Given the description of an element on the screen output the (x, y) to click on. 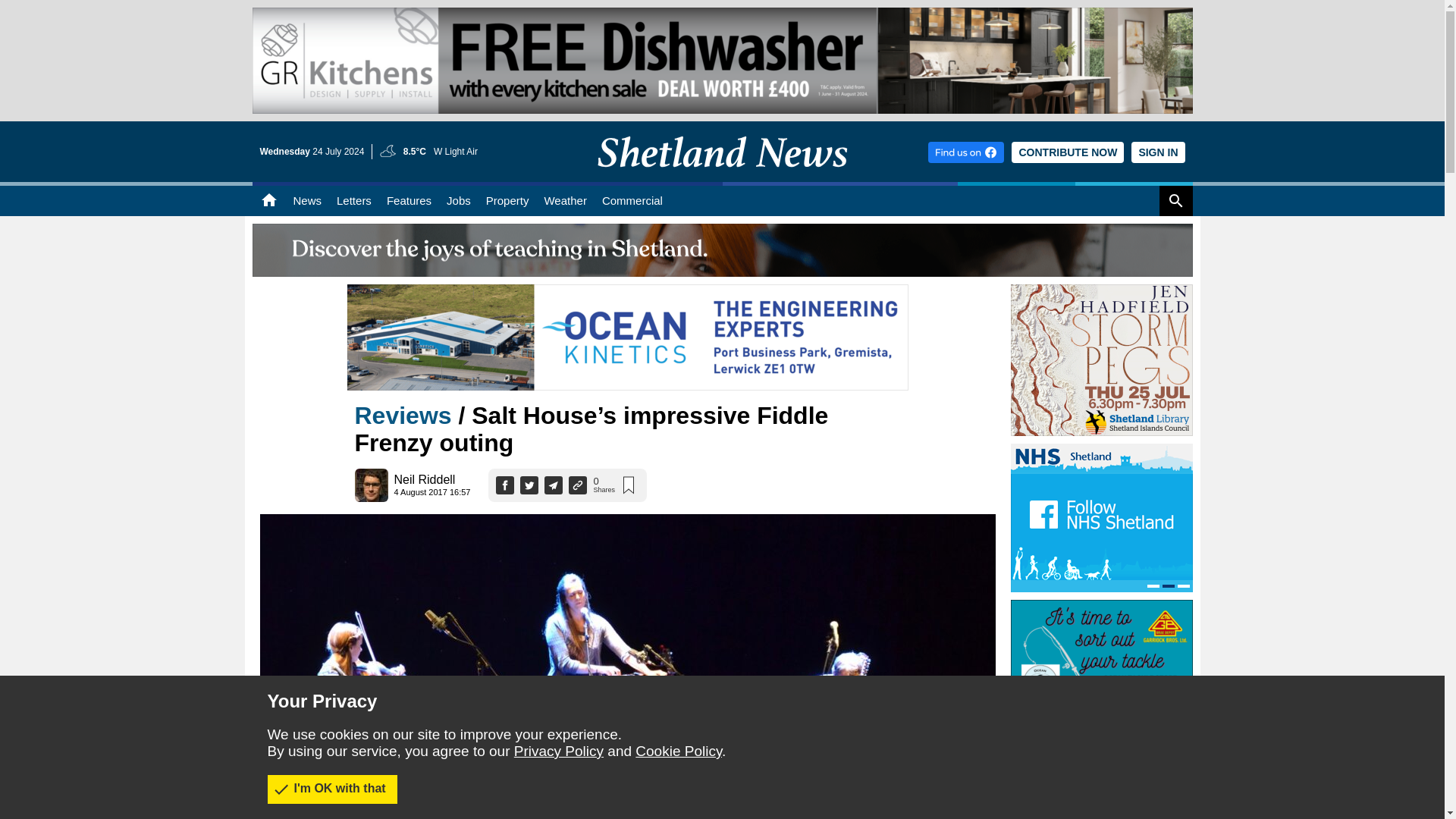
News (307, 200)
CONTRIBUTE NOW (1067, 151)
Home (268, 200)
Shetland News Home (721, 177)
G R Direct - Free Dishwasher Offer (721, 60)
News (307, 200)
Shetland News Login (1158, 151)
SIGN IN (1158, 151)
Find us on Facebook (966, 151)
Support Shetland News (1067, 151)
